Given the description of an element on the screen output the (x, y) to click on. 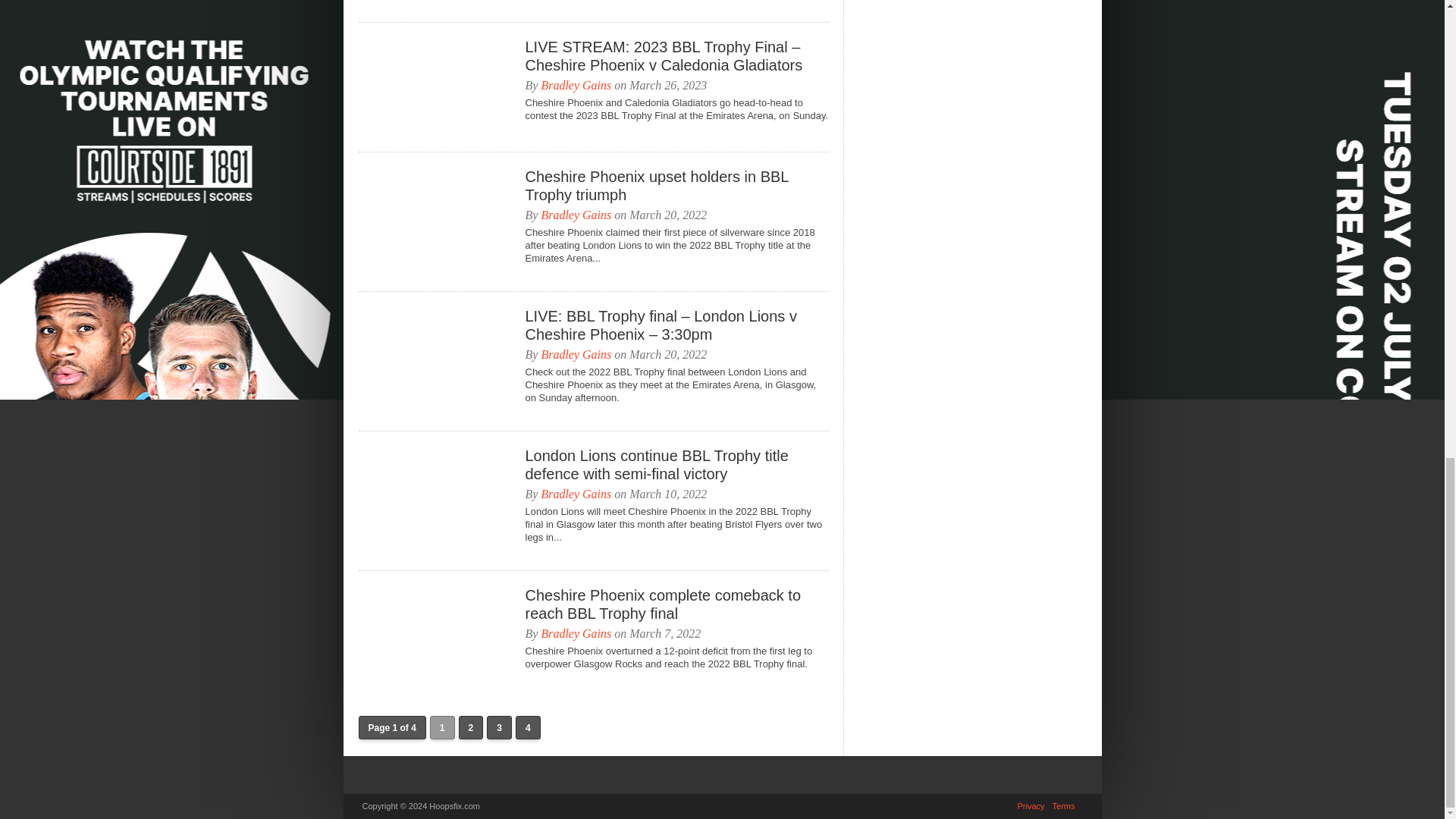
Posts by Bradley Gains (575, 633)
Posts by Bradley Gains (575, 214)
Posts by Bradley Gains (575, 354)
Posts by Bradley Gains (575, 493)
Posts by Bradley Gains (575, 84)
